Given the description of an element on the screen output the (x, y) to click on. 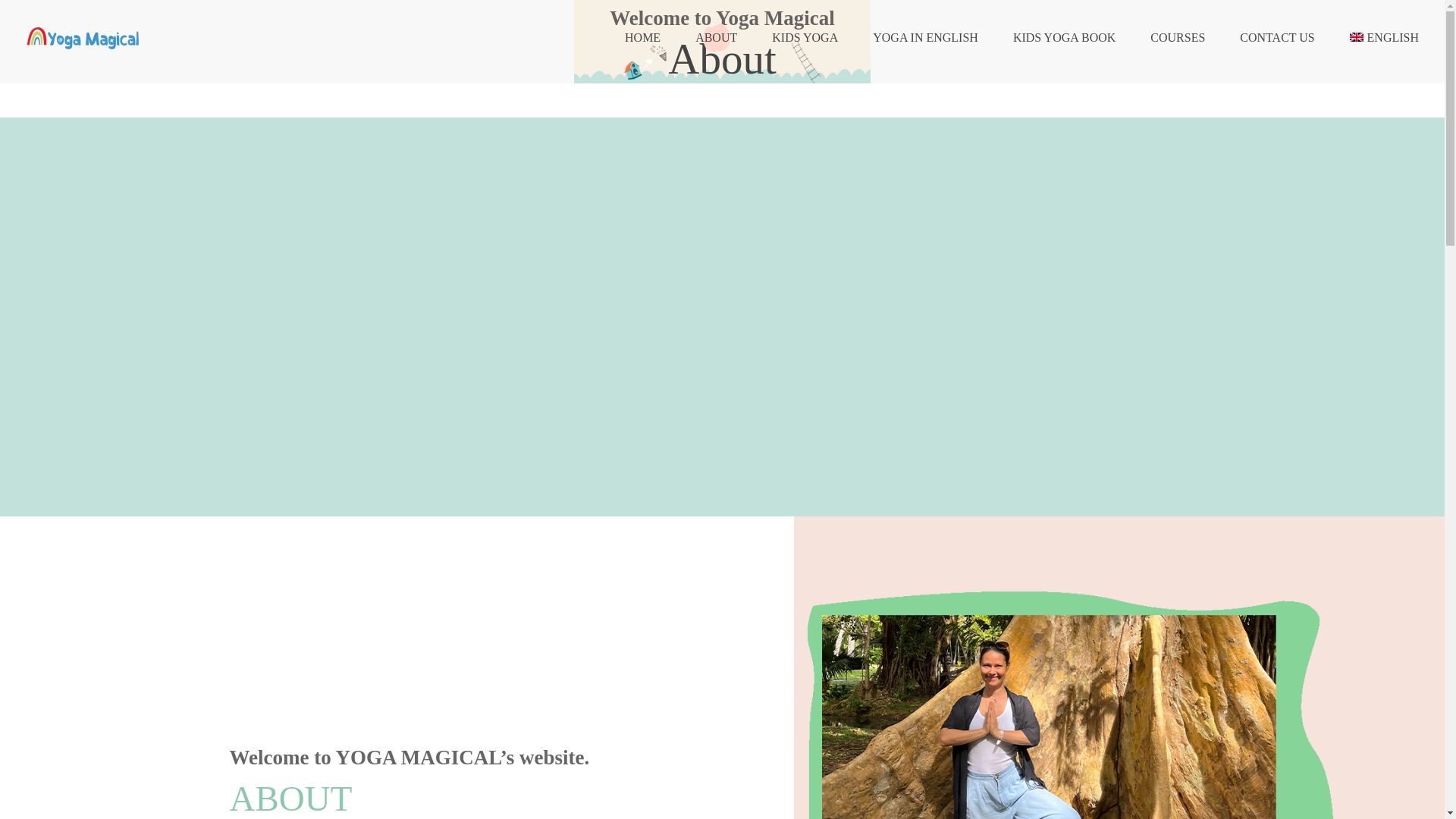
CONTACT US (1277, 38)
YOGA IN ENGLISH (925, 38)
English (1383, 38)
ENGLISH (1383, 38)
KIDS YOGA BOOK (1064, 38)
